Given the description of an element on the screen output the (x, y) to click on. 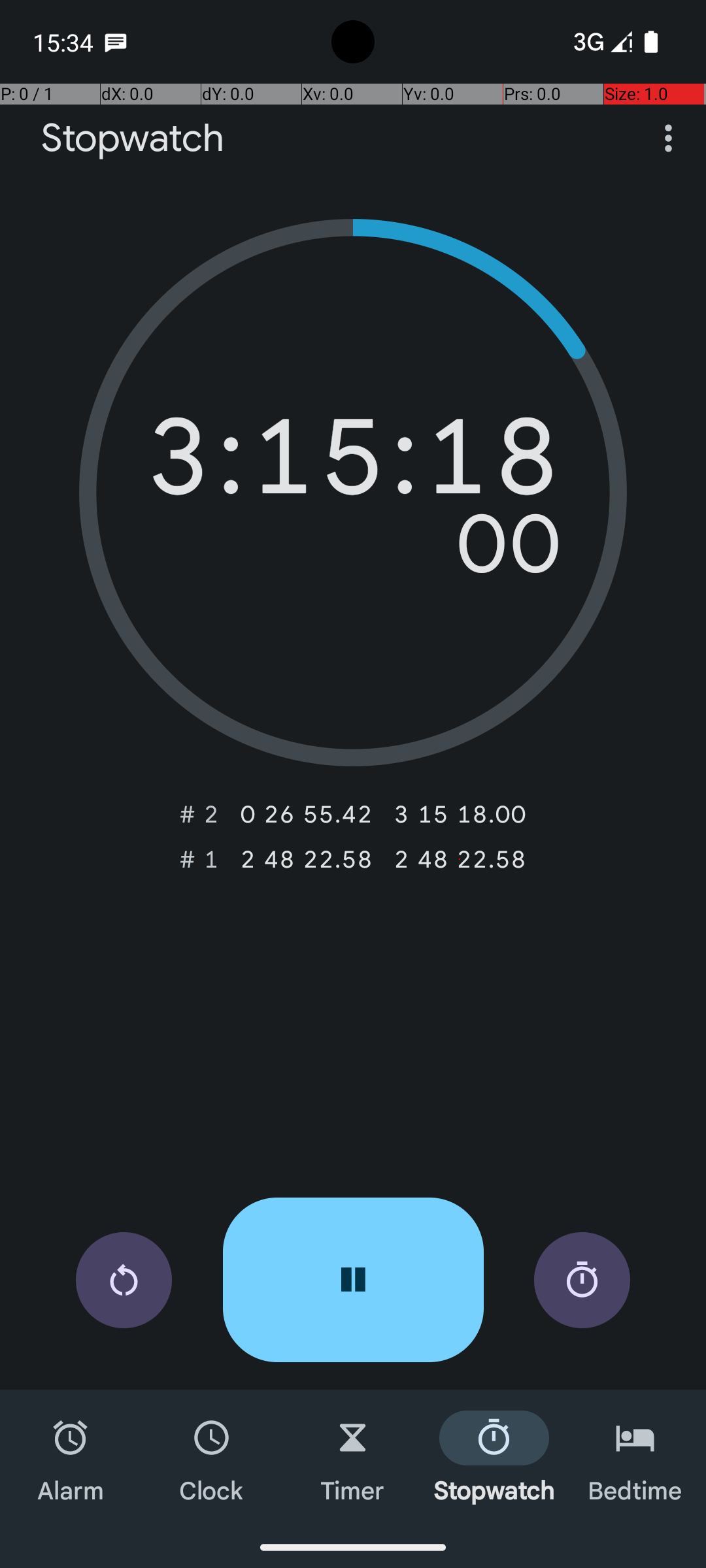
3:15:18 Element type: android.widget.TextView (352, 462)
# 2 Element type: android.widget.TextView (198, 814)
0‎ 26‎ 55.42 Element type: android.widget.TextView (305, 814)
3‎ 15‎ 18.00 Element type: android.widget.TextView (459, 814)
# 1 Element type: android.widget.TextView (198, 859)
2‎ 48‎ 22.58 Element type: android.widget.TextView (305, 859)
